Given the description of an element on the screen output the (x, y) to click on. 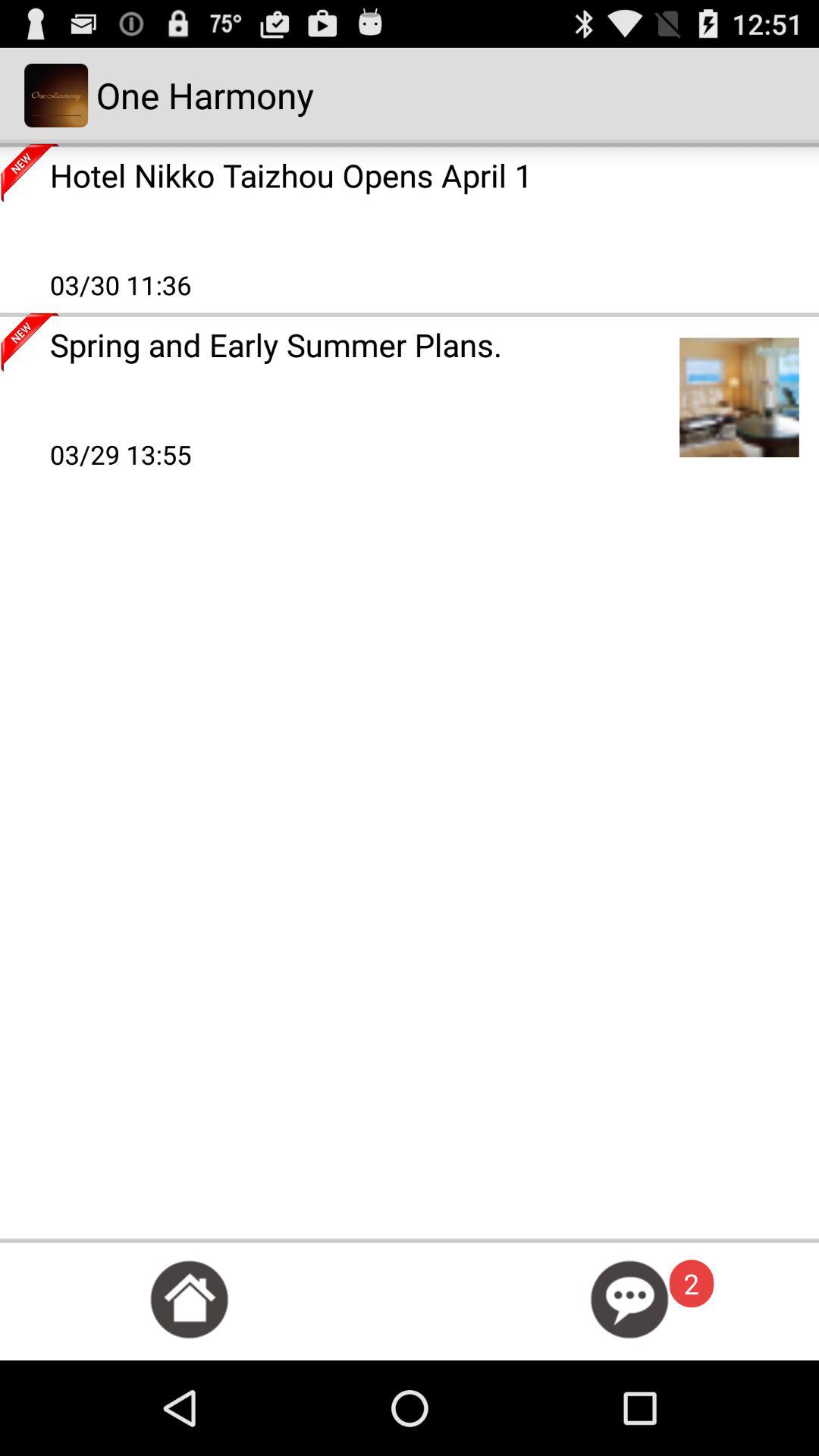
select icon next to 2 item (629, 1299)
